Given the description of an element on the screen output the (x, y) to click on. 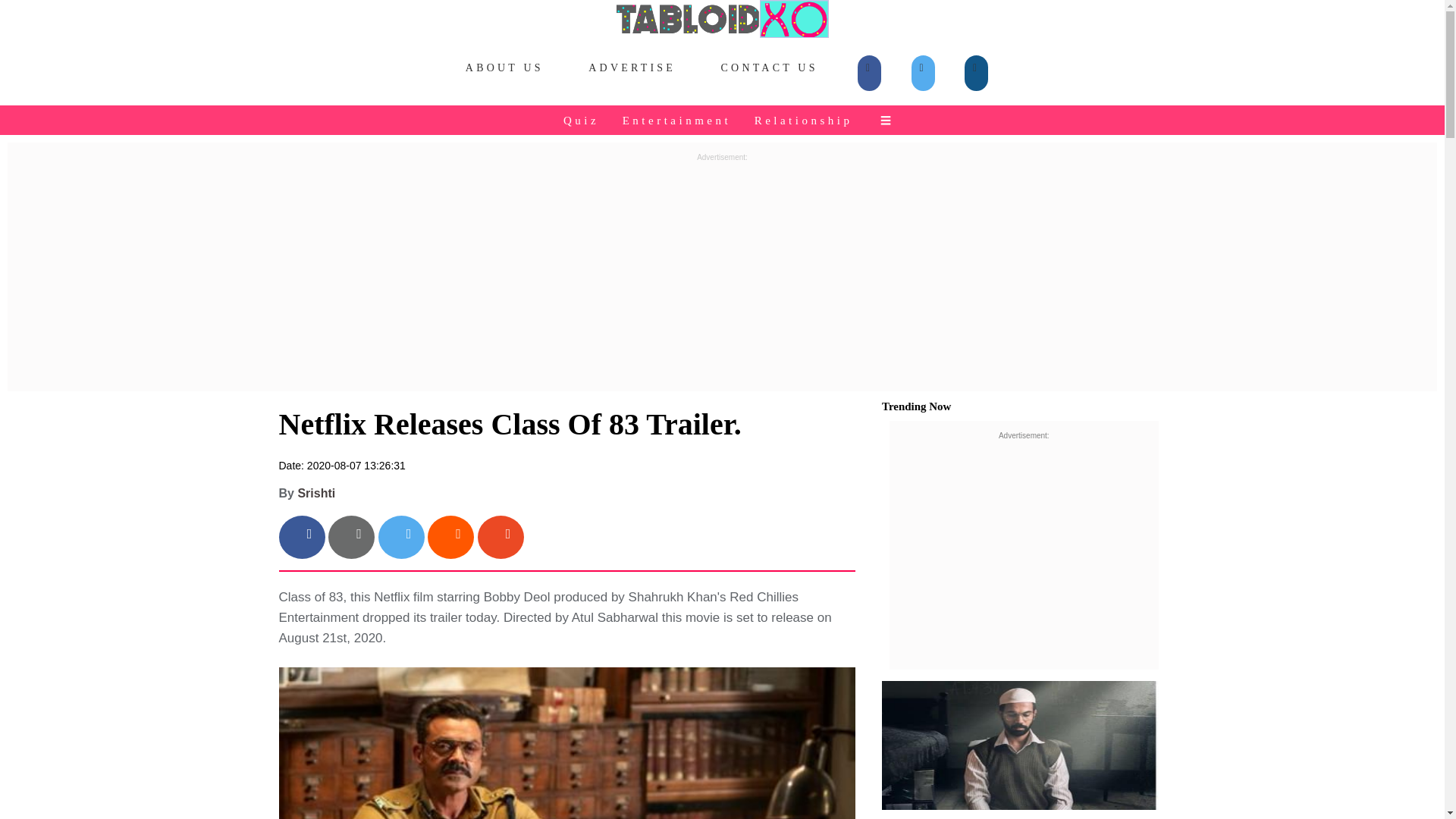
ABOUT US (504, 67)
Entertainment (678, 120)
Quiz (582, 120)
CONTACT US (769, 67)
ADVERTISE (631, 67)
Advertisement (1023, 551)
Relationship (804, 120)
